Given the description of an element on the screen output the (x, y) to click on. 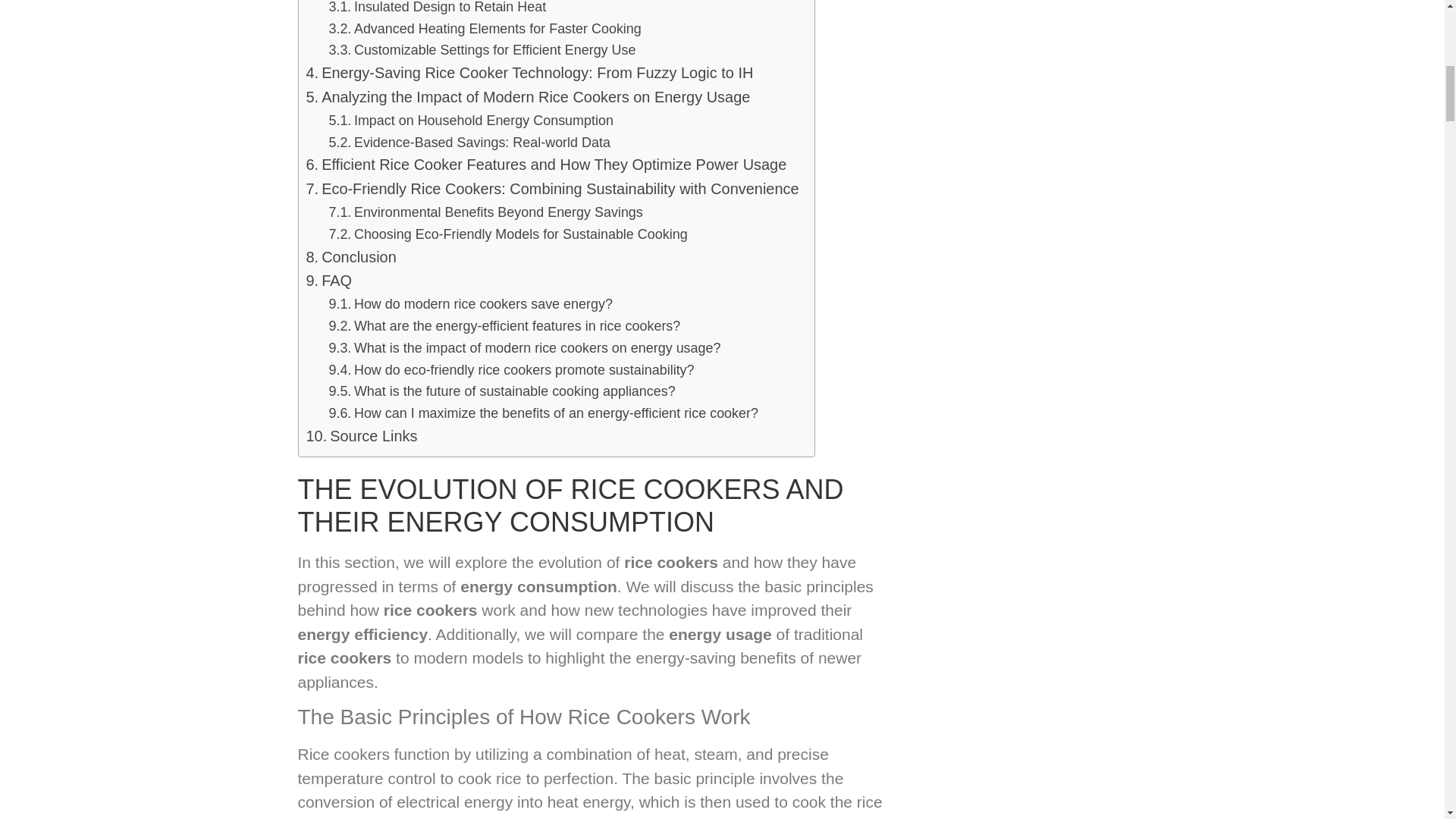
Advanced Heating Elements for Faster Cooking (484, 29)
Impact on Household Energy Consumption (470, 120)
Evidence-Based Savings: Real-world Data (469, 142)
Customizable Settings for Efficient Energy Use (481, 50)
Analyzing the Impact of Modern Rice Cookers on Energy Usage (528, 97)
Energy-Saving Rice Cooker Technology: From Fuzzy Logic to IH (529, 73)
Analyzing the Impact of Modern Rice Cookers on Energy Usage (528, 97)
Energy-Saving Rice Cooker Technology: From Fuzzy Logic to IH (529, 73)
Insulated Design to Retain Heat (437, 9)
Evidence-Based Savings: Real-world Data (469, 142)
